Given the description of an element on the screen output the (x, y) to click on. 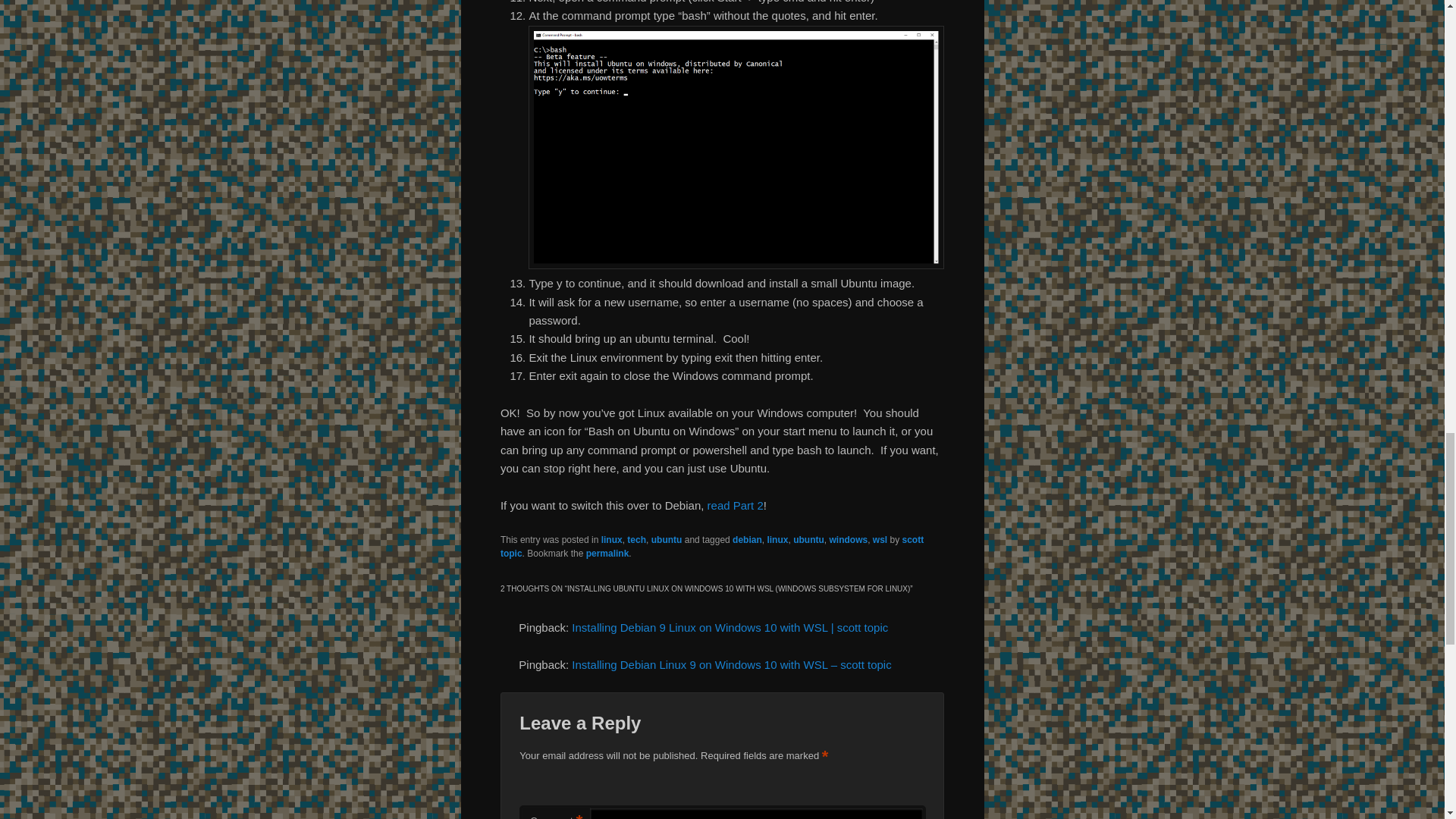
windows (847, 539)
permalink (607, 552)
linux (777, 539)
tech (636, 539)
ubuntu (666, 539)
read Part 2 (734, 504)
debian (746, 539)
wsl (879, 539)
scott topic (711, 546)
linux (612, 539)
ubuntu (808, 539)
